Given the description of an element on the screen output the (x, y) to click on. 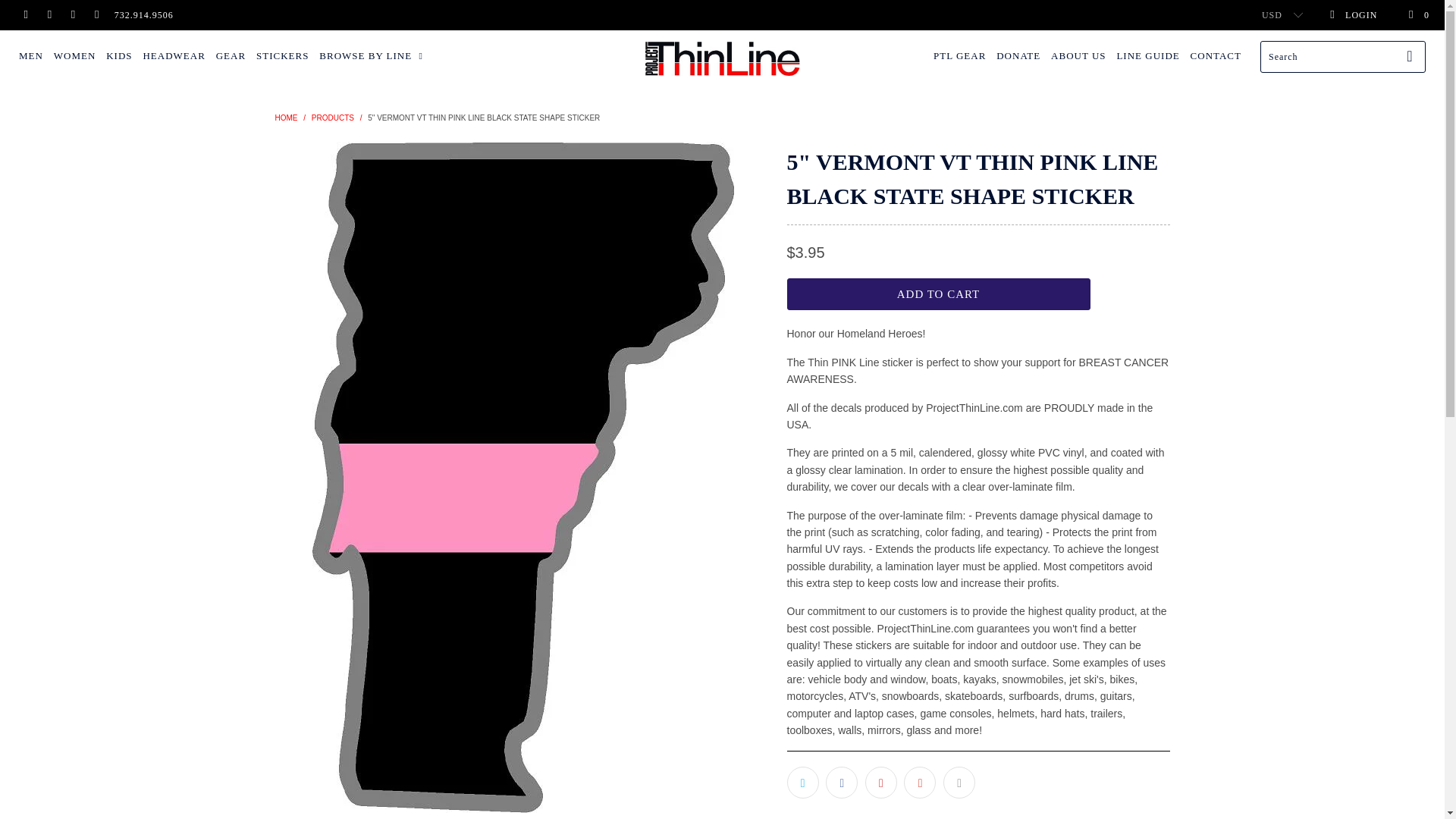
My Account  (1352, 15)
Project Thin Line on Pinterest (71, 14)
Share this on Twitter (802, 782)
Project Thin Line on Twitter (25, 14)
Project Thin Line (286, 117)
Share this on Pinterest (880, 782)
Products (332, 117)
Project Thin Line (722, 58)
Project Thin Line on Facebook (48, 14)
Email this to a friend (959, 782)
